Given the description of an element on the screen output the (x, y) to click on. 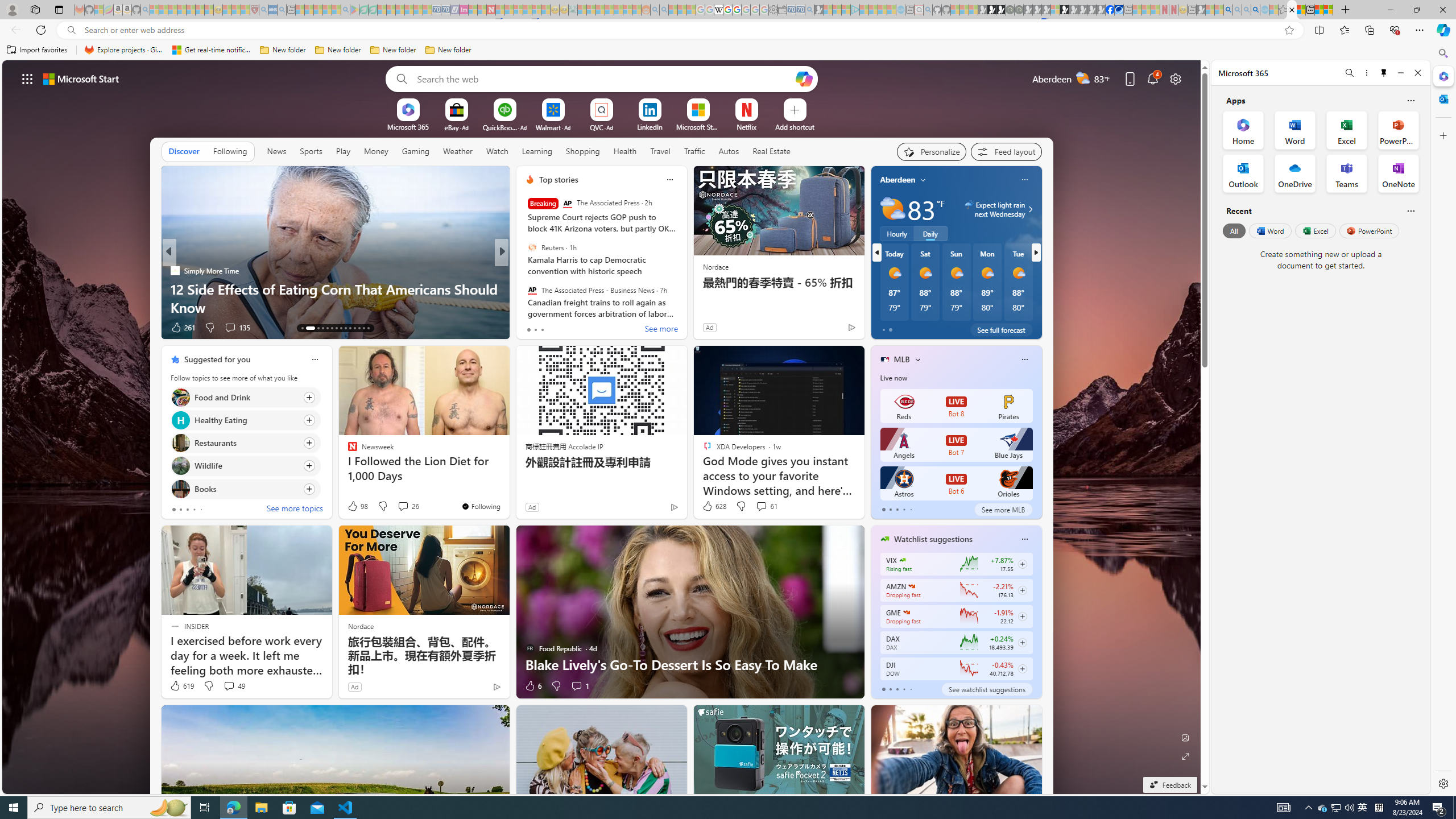
Cheap Car Rentals - Save70.com - Sleeping (799, 9)
DITOGAMES AG Imprint - Sleeping (572, 9)
New folder (448, 49)
tab-1 (889, 689)
73 Like (530, 327)
Health Digest (174, 288)
